Given the description of an element on the screen output the (x, y) to click on. 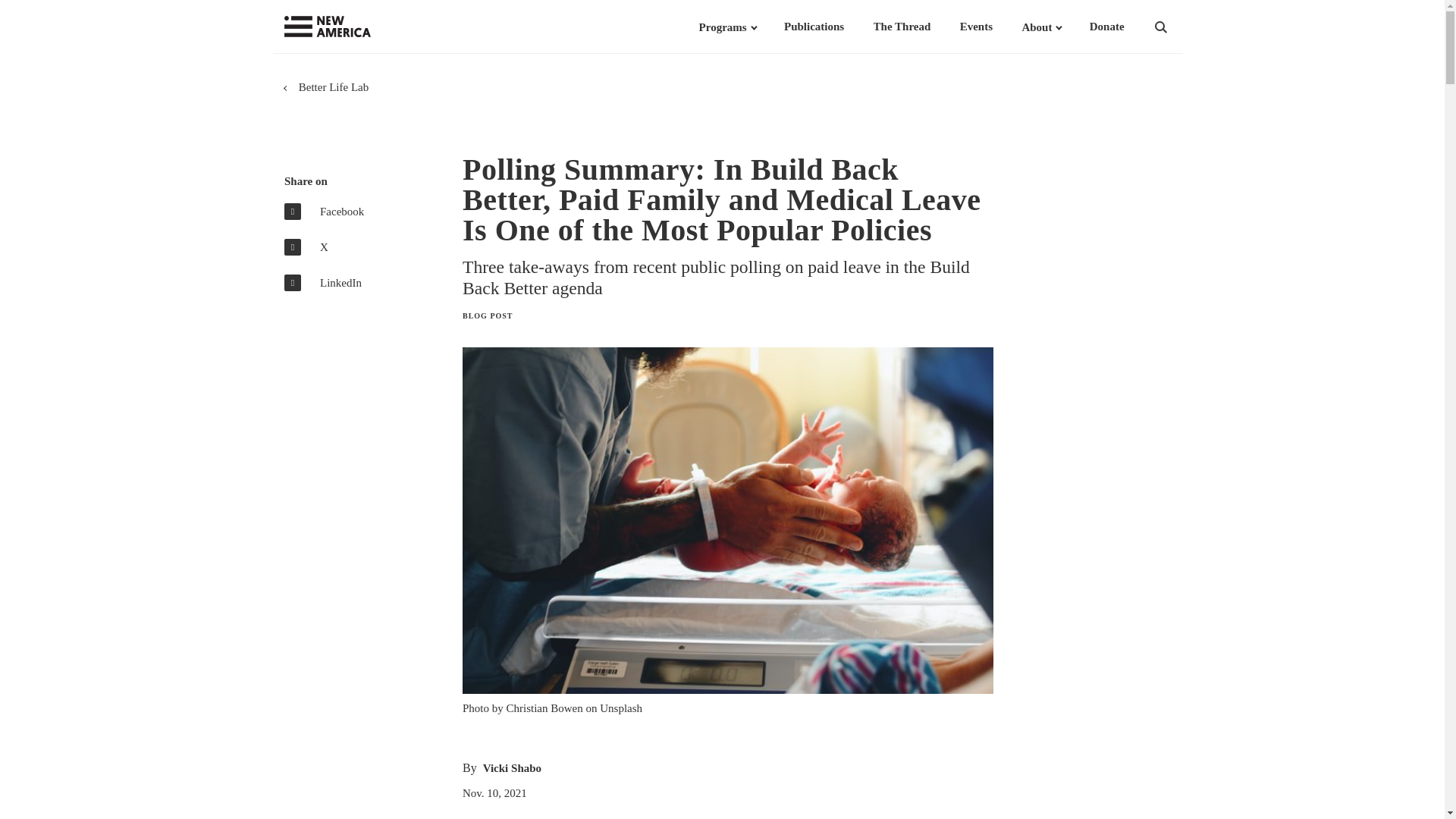
Search (1180, 27)
Search (1180, 27)
The Thread (902, 26)
Search (1180, 27)
New America (357, 26)
Programs (722, 26)
Publications (814, 26)
